Given the description of an element on the screen output the (x, y) to click on. 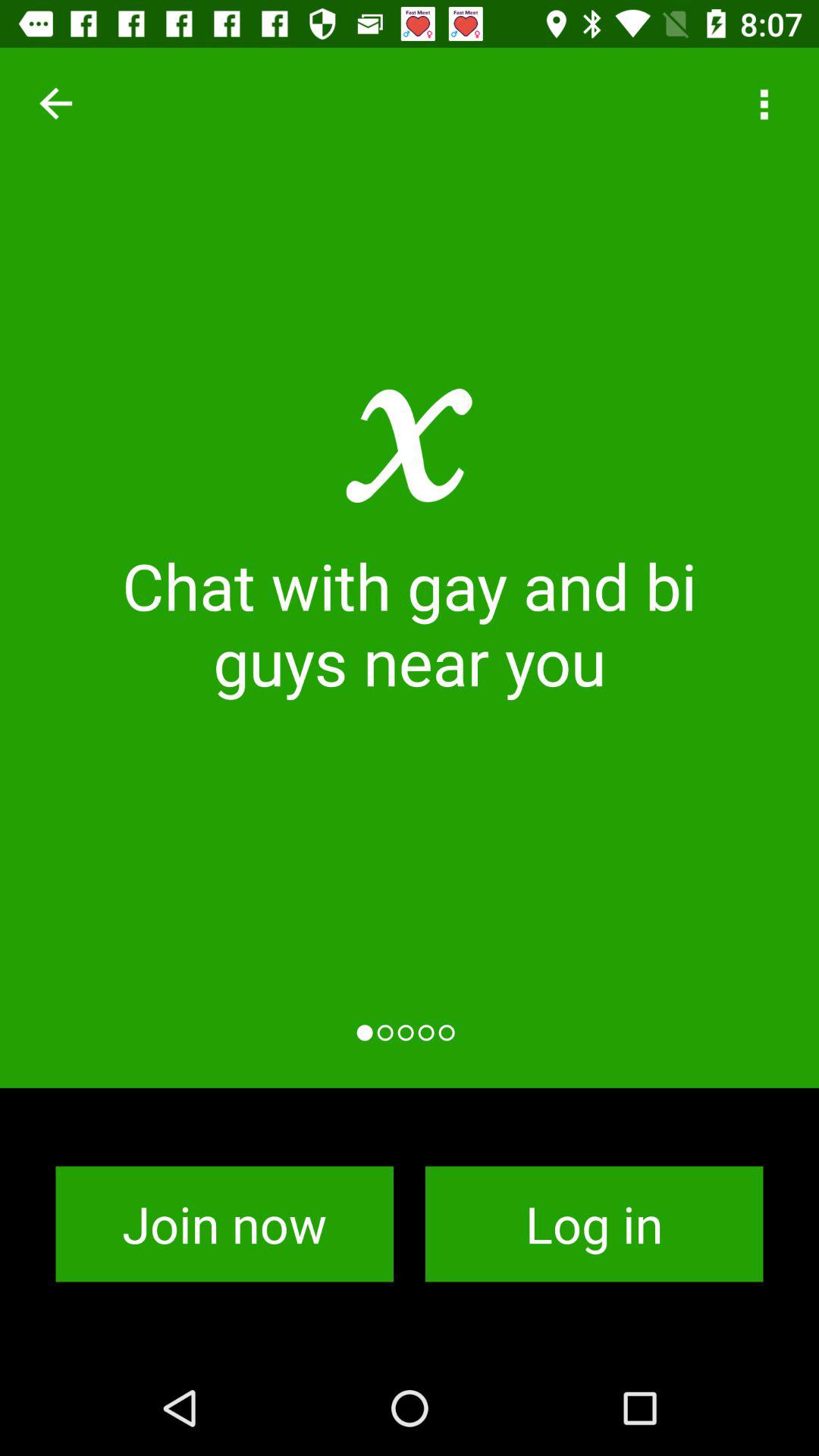
turn off the join now icon (224, 1223)
